Given the description of an element on the screen output the (x, y) to click on. 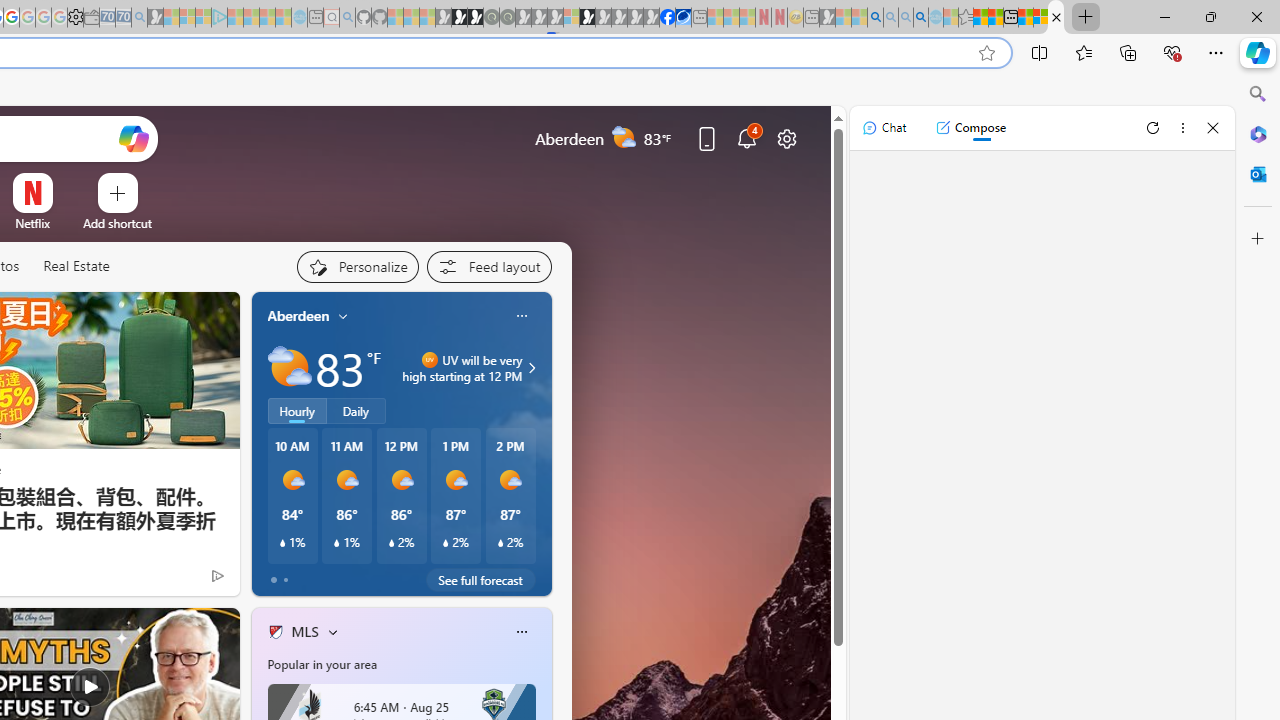
Personalize your feed" (356, 266)
Close Customize pane (1258, 239)
